Given the description of an element on the screen output the (x, y) to click on. 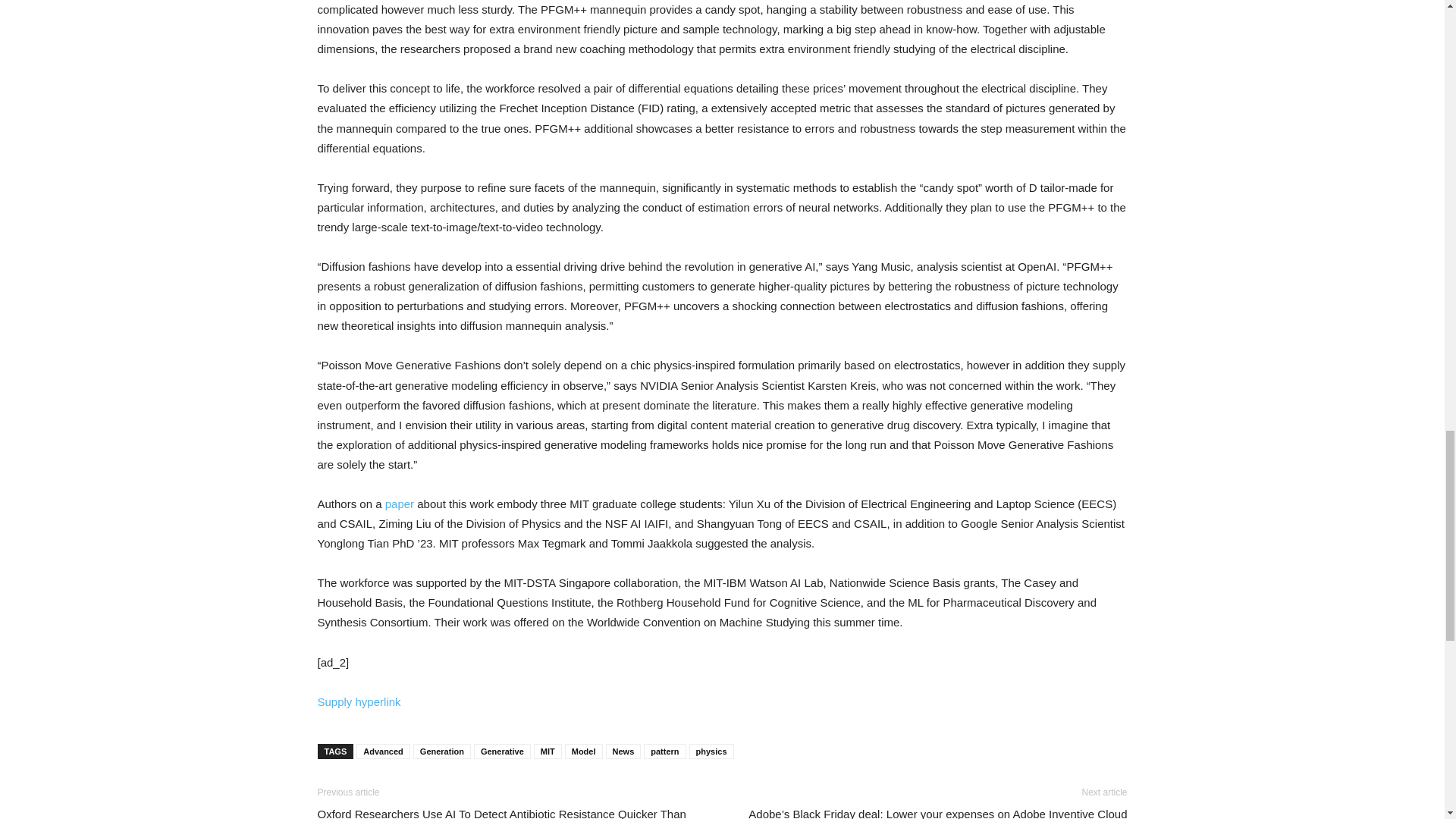
Generation (441, 751)
News (623, 751)
paper (399, 503)
pattern (664, 751)
physics (710, 751)
Supply hyperlink (358, 701)
MIT (548, 751)
Generative (502, 751)
Model (583, 751)
Advanced (383, 751)
